Given the description of an element on the screen output the (x, y) to click on. 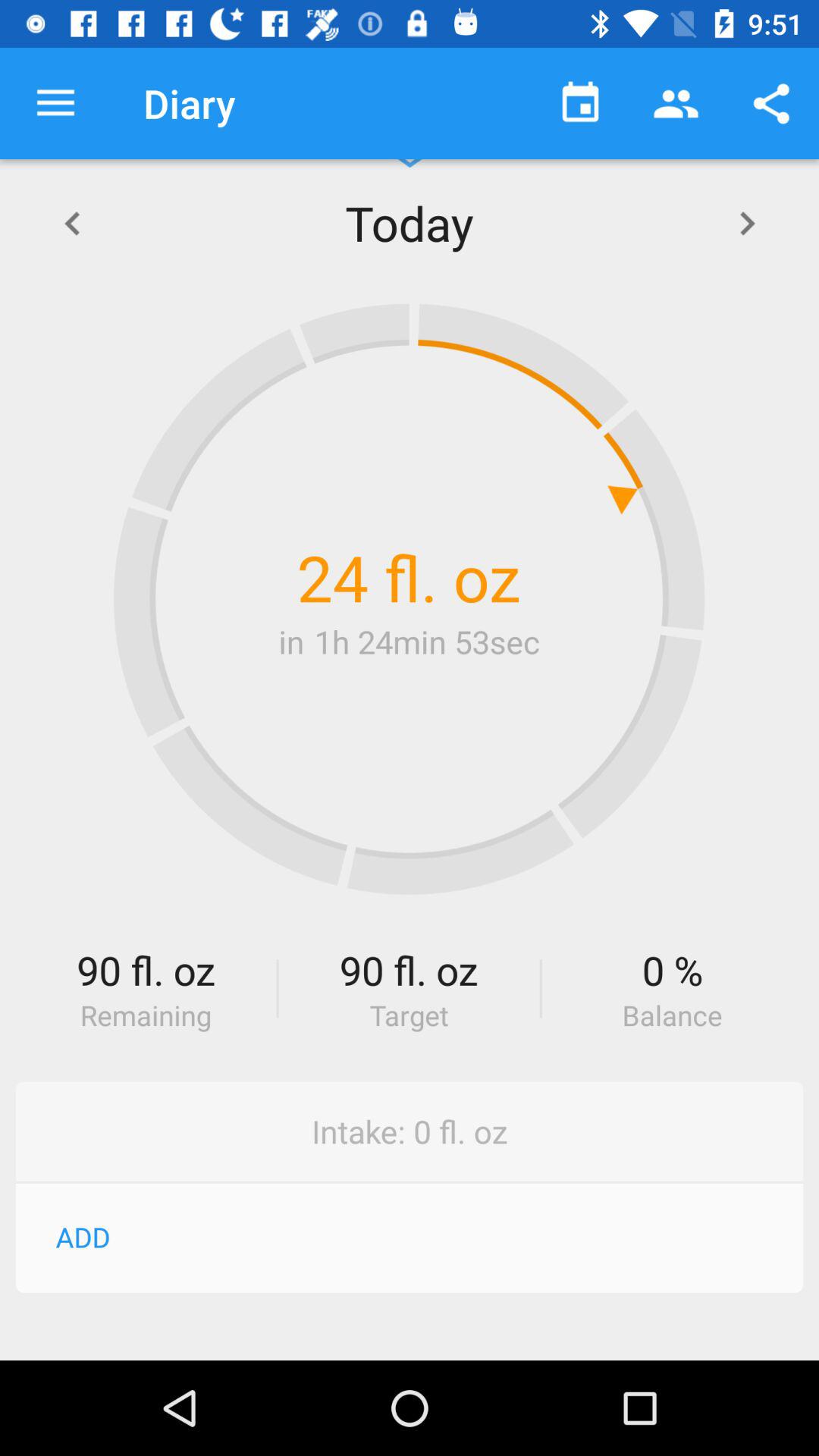
press the intake 0 fl icon (409, 1131)
